Given the description of an element on the screen output the (x, y) to click on. 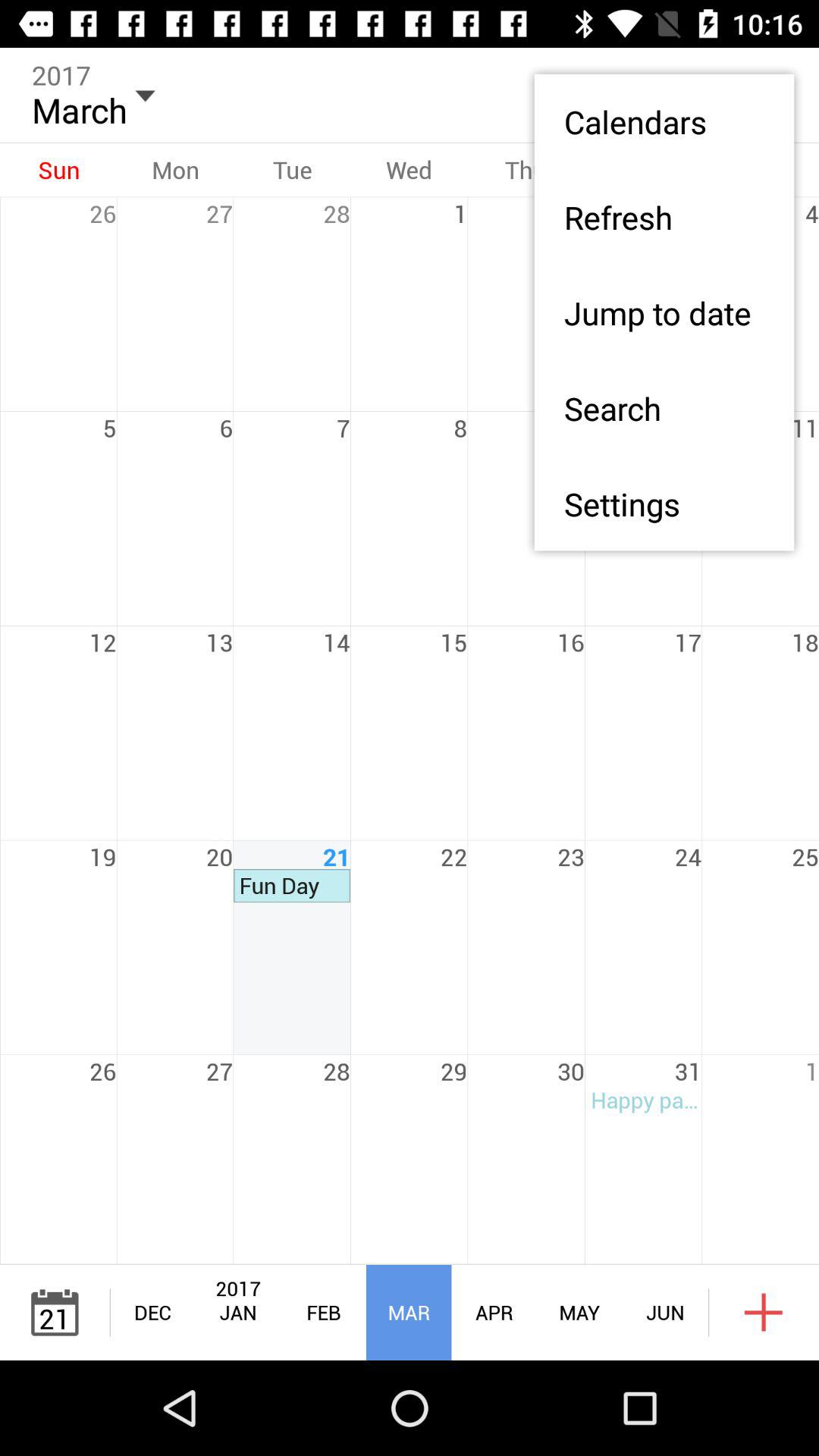
open calendars icon (664, 121)
